Given the description of an element on the screen output the (x, y) to click on. 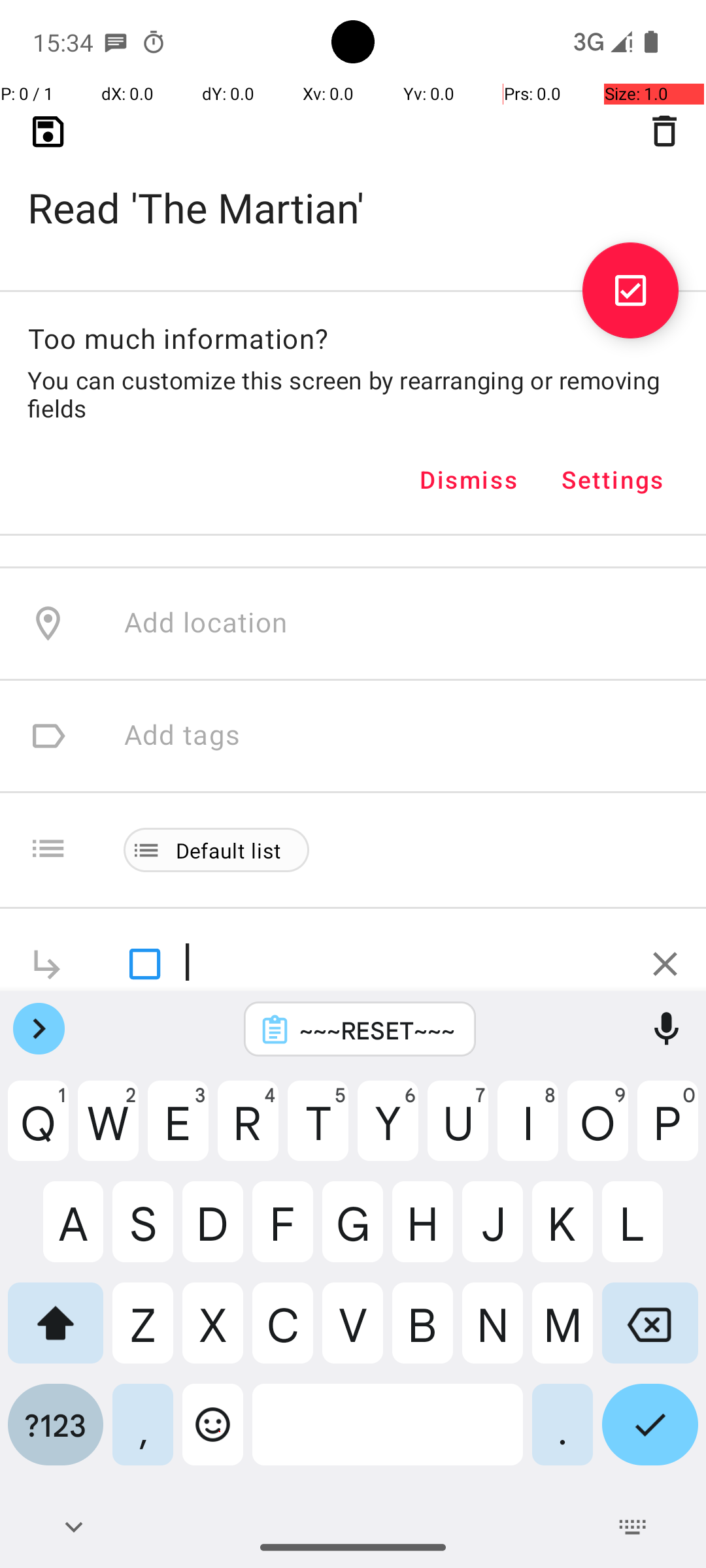
Week before due 21:35 Element type: android.widget.TextView (272, 122)
Repeats daily Element type: android.widget.TextView (400, 347)
